Given the description of an element on the screen output the (x, y) to click on. 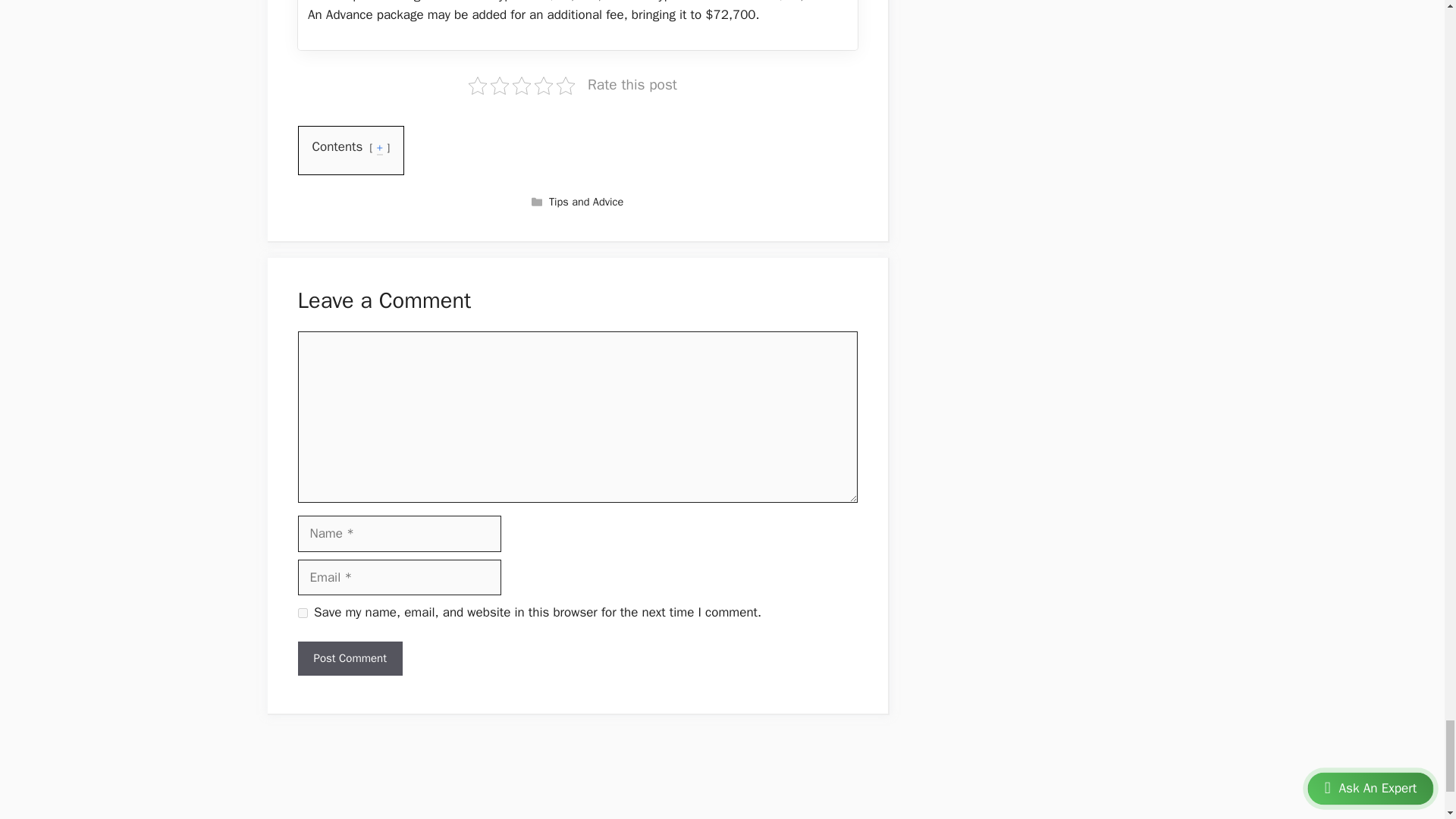
yes (302, 613)
Post Comment (349, 658)
